Given the description of an element on the screen output the (x, y) to click on. 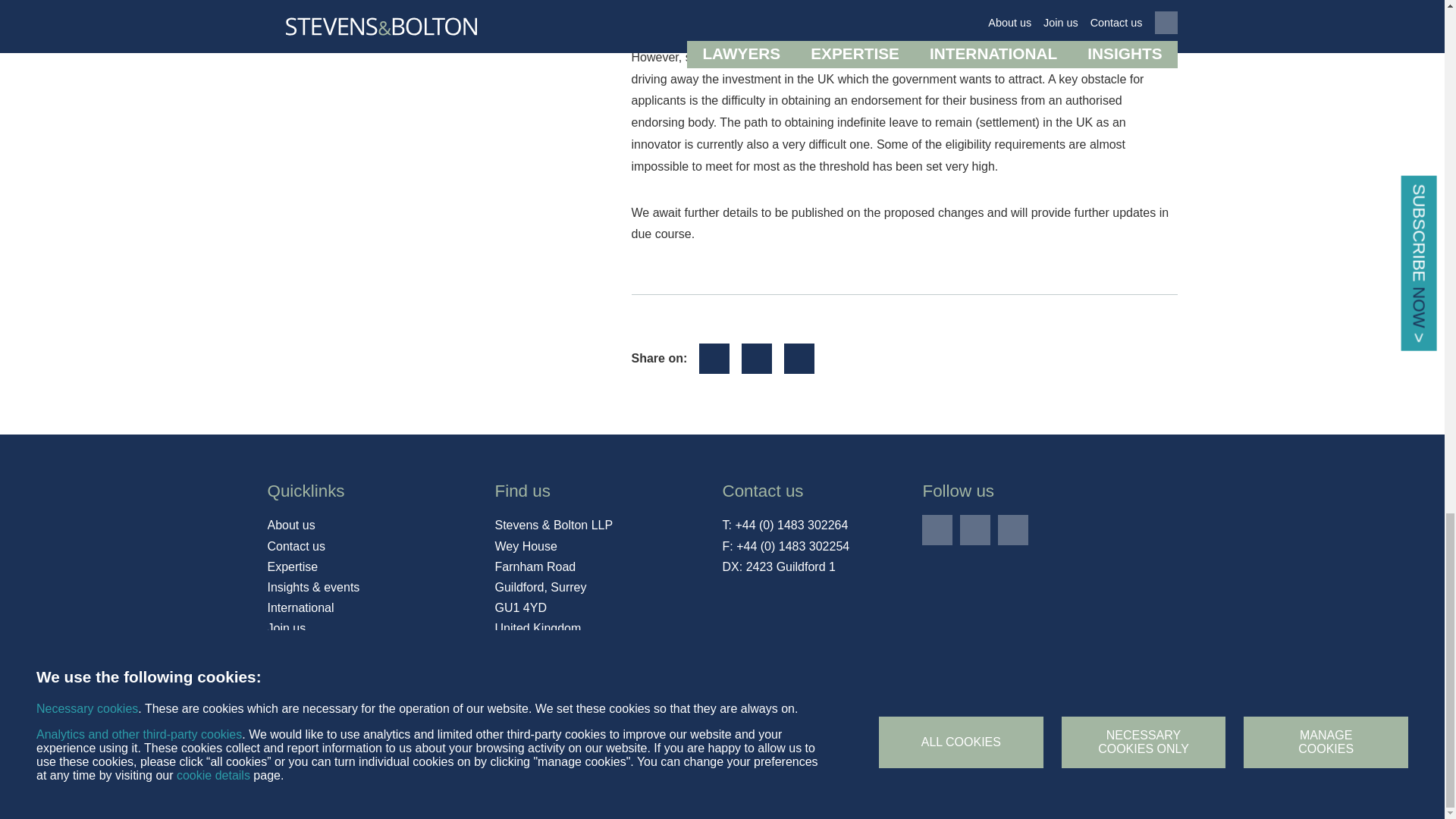
Contact us (295, 546)
Pay online (294, 670)
Lawyers (289, 649)
Expertise (291, 567)
Join us (285, 628)
Accessibility (293, 740)
About us (290, 525)
International (299, 608)
Complaints Procedure (391, 740)
Legal Notice (489, 740)
